Given the description of an element on the screen output the (x, y) to click on. 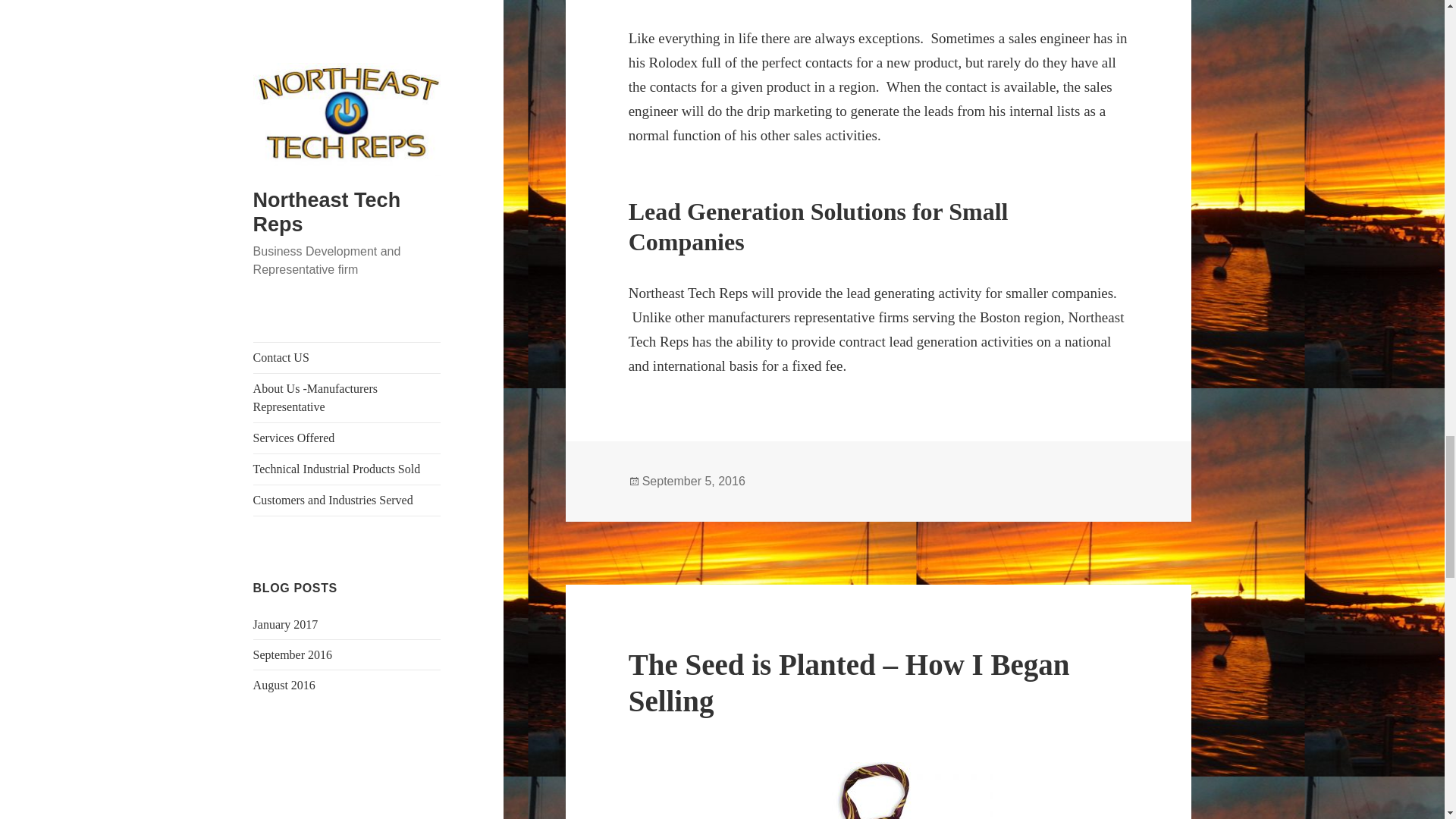
September 5, 2016 (693, 481)
